Given the description of an element on the screen output the (x, y) to click on. 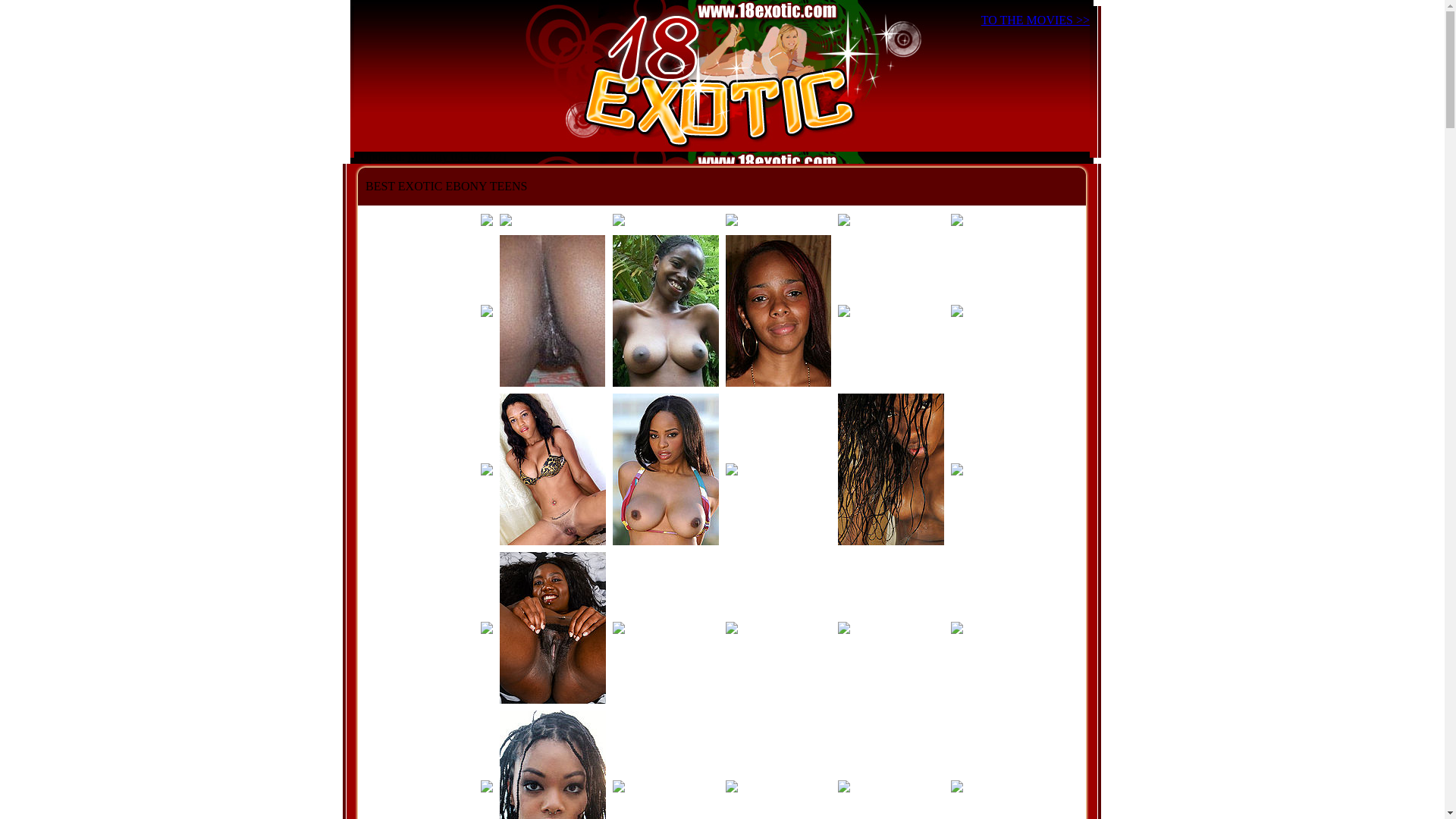
TO THE MOVIES >> Element type: text (1035, 19)
